Given the description of an element on the screen output the (x, y) to click on. 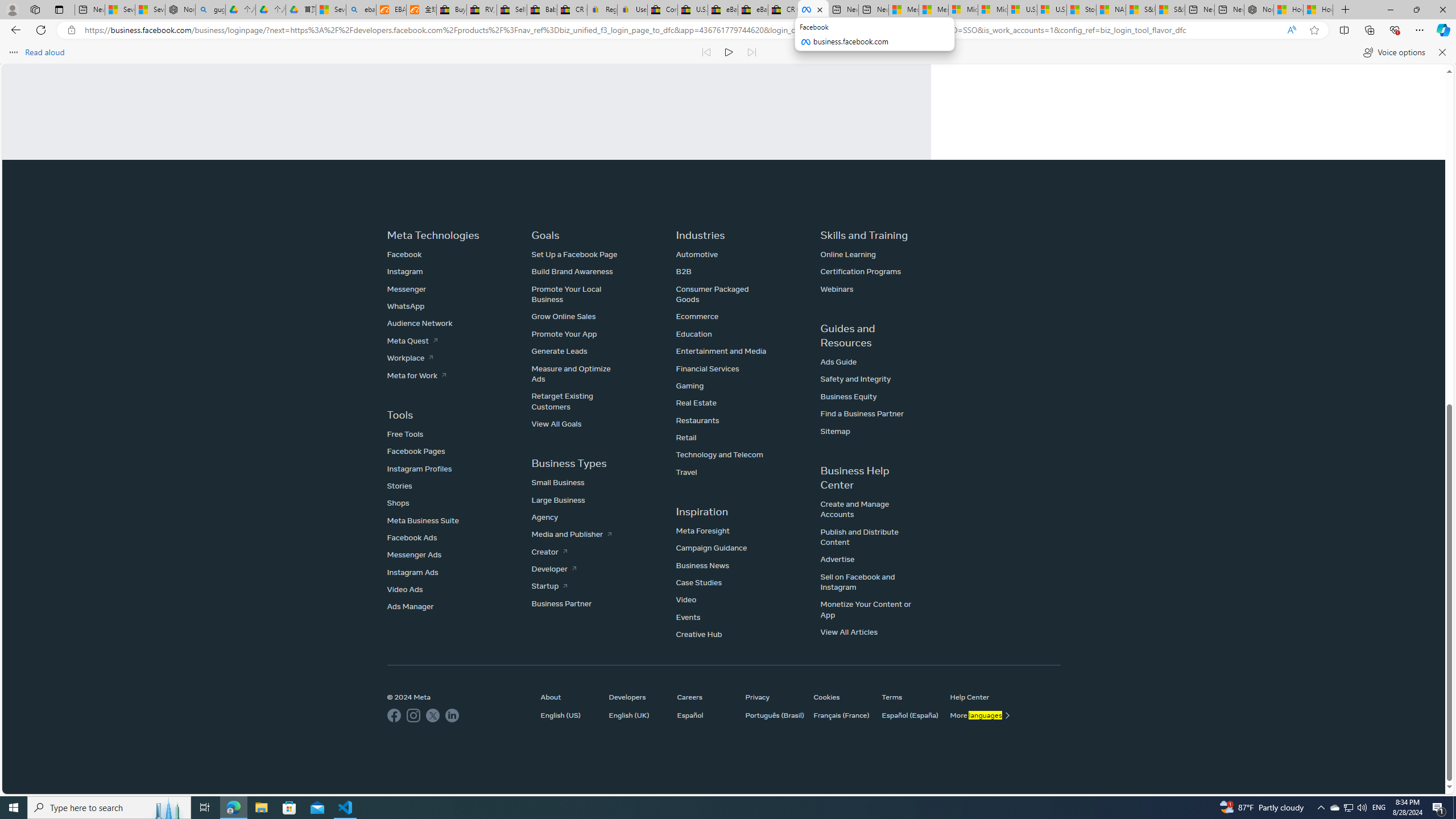
Video Ads (405, 589)
Meta Business Suite (423, 519)
Read previous paragraph (705, 52)
Find a Business Partner (861, 413)
Stories (399, 485)
S&P 500, Nasdaq end lower, weighed by Nvidia dip | Watch (1169, 9)
Entertainment and Media (721, 351)
Meta Quest (411, 340)
